Given the description of an element on the screen output the (x, y) to click on. 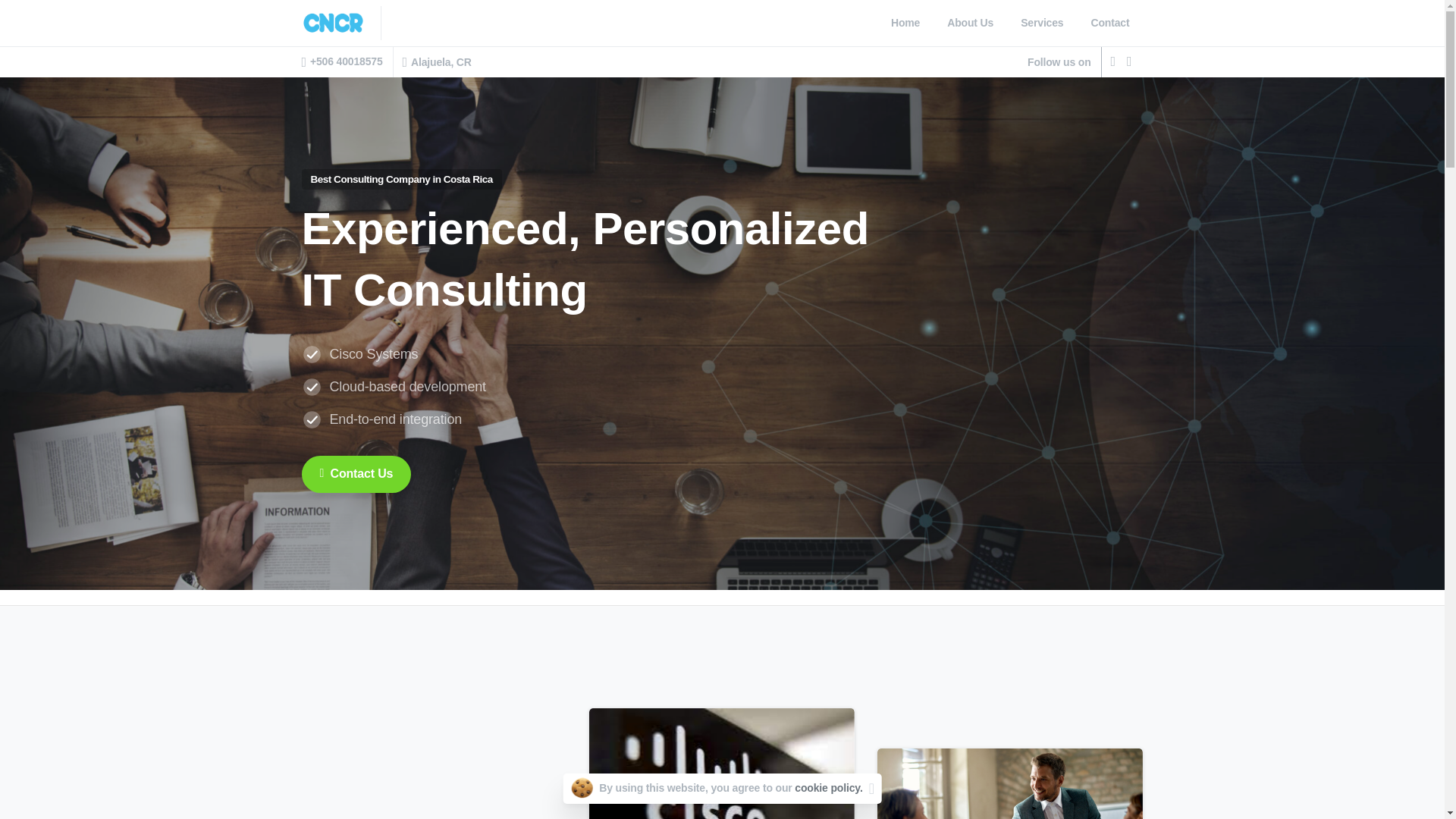
Close (872, 788)
Services (1041, 22)
About Us (722, 22)
Contact Us (969, 22)
About Us (356, 474)
Contact (969, 22)
Home (1109, 22)
Services (905, 22)
cookie policy. (1041, 22)
Contact (827, 787)
Home (1109, 22)
